Given the description of an element on the screen output the (x, y) to click on. 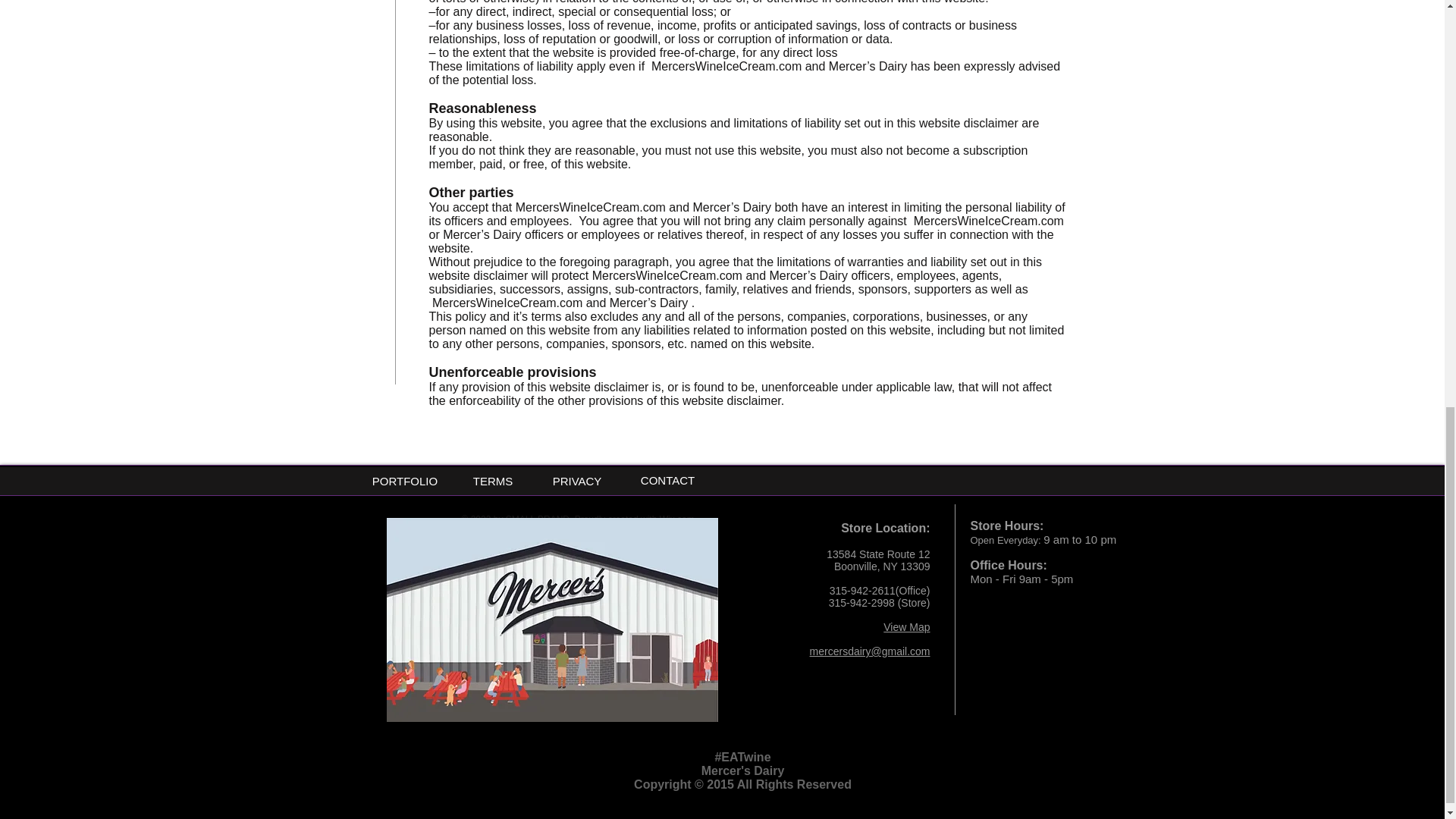
Wix.com (676, 519)
View Map (906, 626)
PORTFOLIO (404, 480)
PRIVACY (576, 480)
TERMS (493, 480)
CONTACT (667, 480)
